Given the description of an element on the screen output the (x, y) to click on. 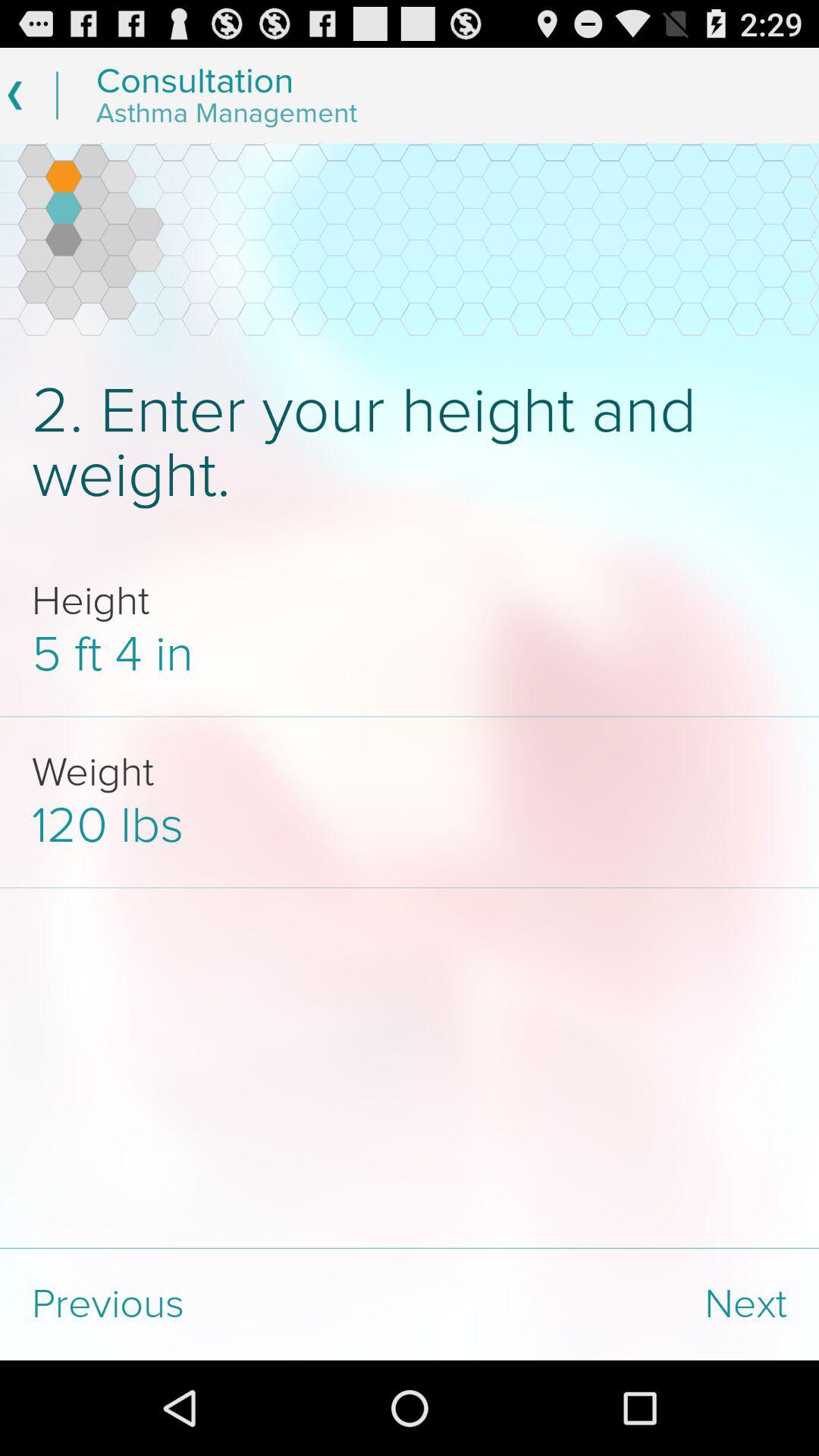
click the app to the left of the next icon (204, 1304)
